Given the description of an element on the screen output the (x, y) to click on. 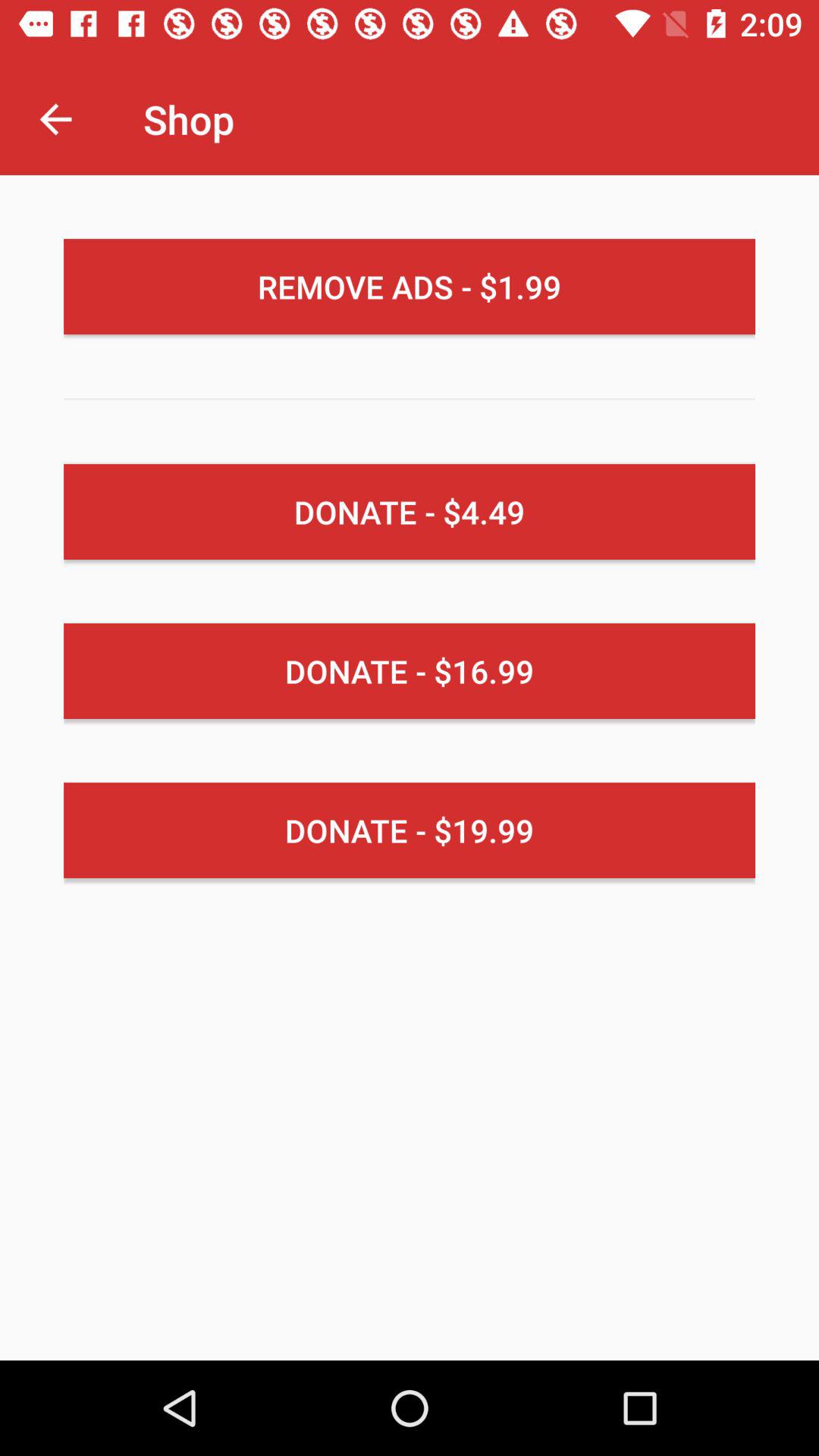
turn on the icon to the left of the shop (55, 119)
